Given the description of an element on the screen output the (x, y) to click on. 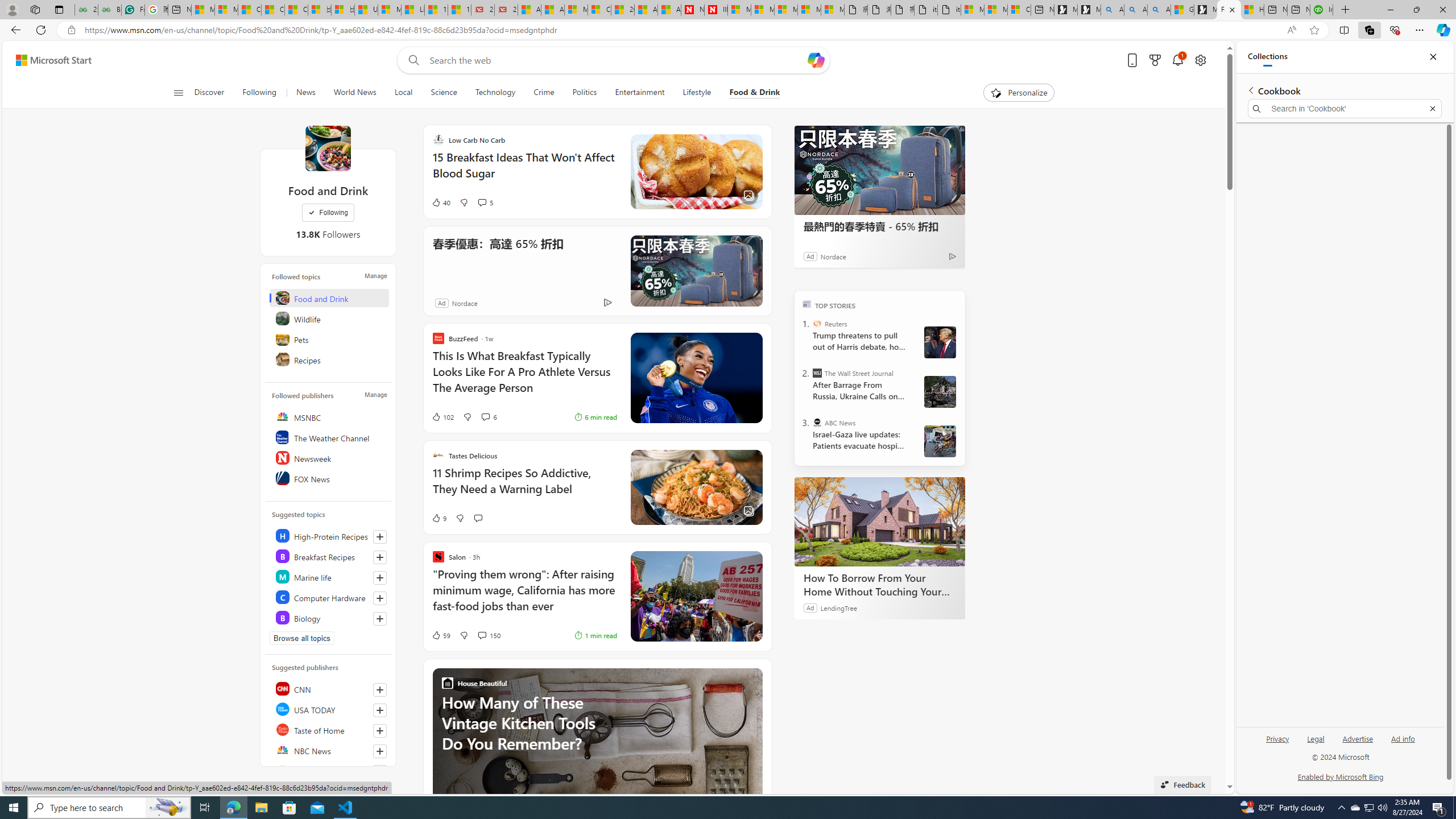
Wildlife (328, 318)
View comments 6 Comment (485, 416)
9 Like (438, 517)
20 Ways to Boost Your Protein Intake at Every Meal (622, 9)
